Given the description of an element on the screen output the (x, y) to click on. 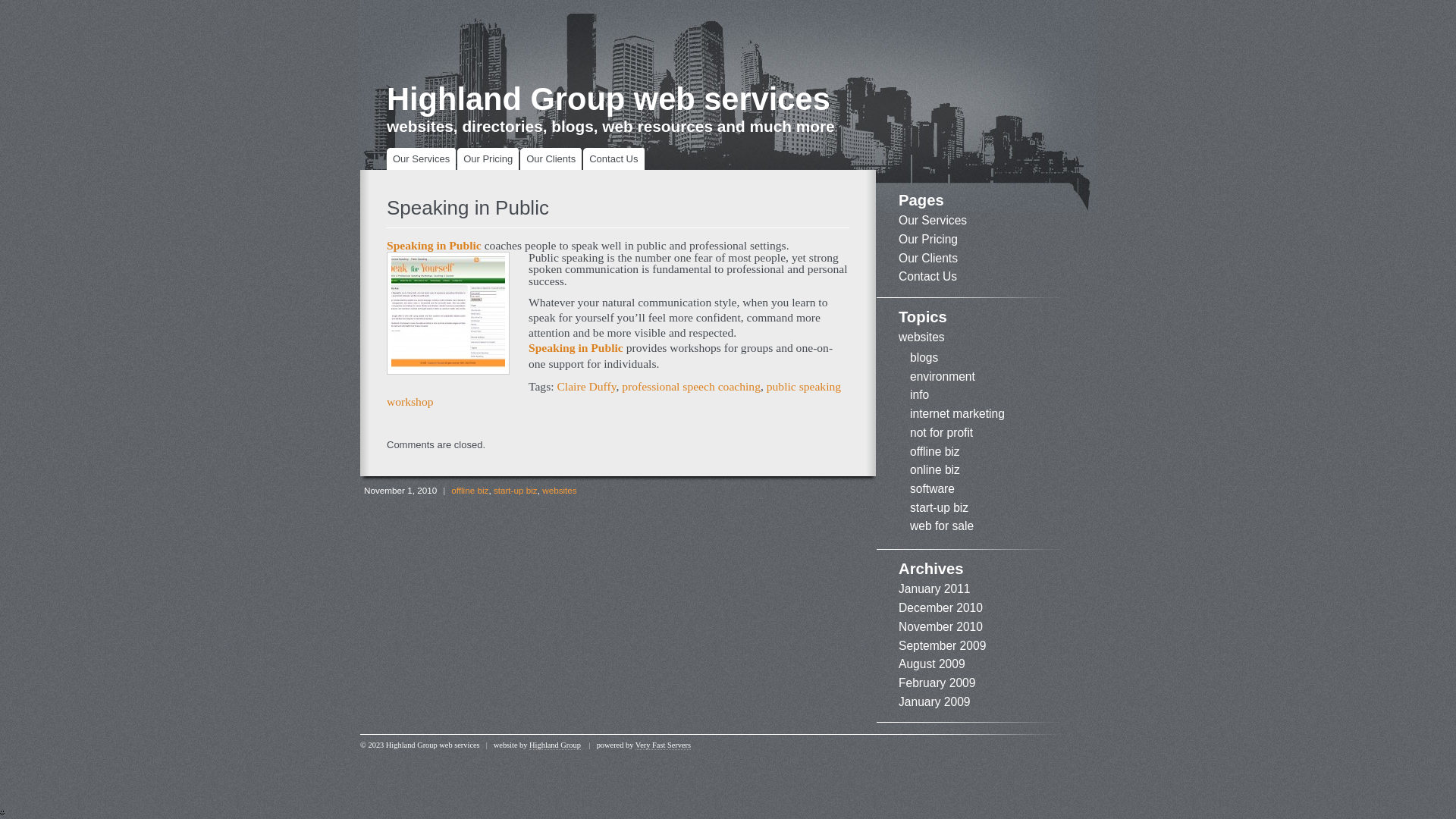
Claire Duffy Element type: text (585, 385)
info Element type: text (919, 394)
websites Element type: text (921, 336)
blogs Element type: text (924, 357)
online biz Element type: text (935, 469)
professional speech coaching Element type: text (690, 385)
Highland Group Element type: text (554, 744)
Our Pricing Element type: text (490, 158)
environment Element type: text (942, 376)
public speaking workshop Element type: text (613, 393)
Our Services Element type: text (932, 219)
speak-for-yourself Element type: hover (447, 312)
websites Element type: text (559, 490)
September 2009 Element type: text (941, 644)
November 2010 Element type: text (940, 626)
Speaking in Public Element type: text (435, 244)
software Element type: text (932, 488)
offline biz Element type: text (469, 490)
offline biz Element type: text (935, 451)
start-up biz Element type: text (939, 507)
January 2009 Element type: text (934, 701)
Contact Us Element type: text (616, 158)
start-up biz Element type: text (515, 490)
February 2009 Element type: text (936, 682)
not for profit Element type: text (941, 432)
Our Pricing Element type: text (927, 238)
web for sale Element type: text (941, 525)
Speaking in Public Element type: text (577, 347)
Our Clients Element type: text (553, 158)
Contact Us Element type: text (927, 275)
internet marketing Element type: text (957, 413)
December 2010 Element type: text (940, 607)
Highland Group web services Element type: text (608, 98)
Our Services Element type: text (423, 158)
August 2009 Element type: text (931, 663)
Very Fast Servers Element type: text (662, 744)
January 2011 Element type: text (934, 588)
Our Clients Element type: text (927, 257)
